Given the description of an element on the screen output the (x, y) to click on. 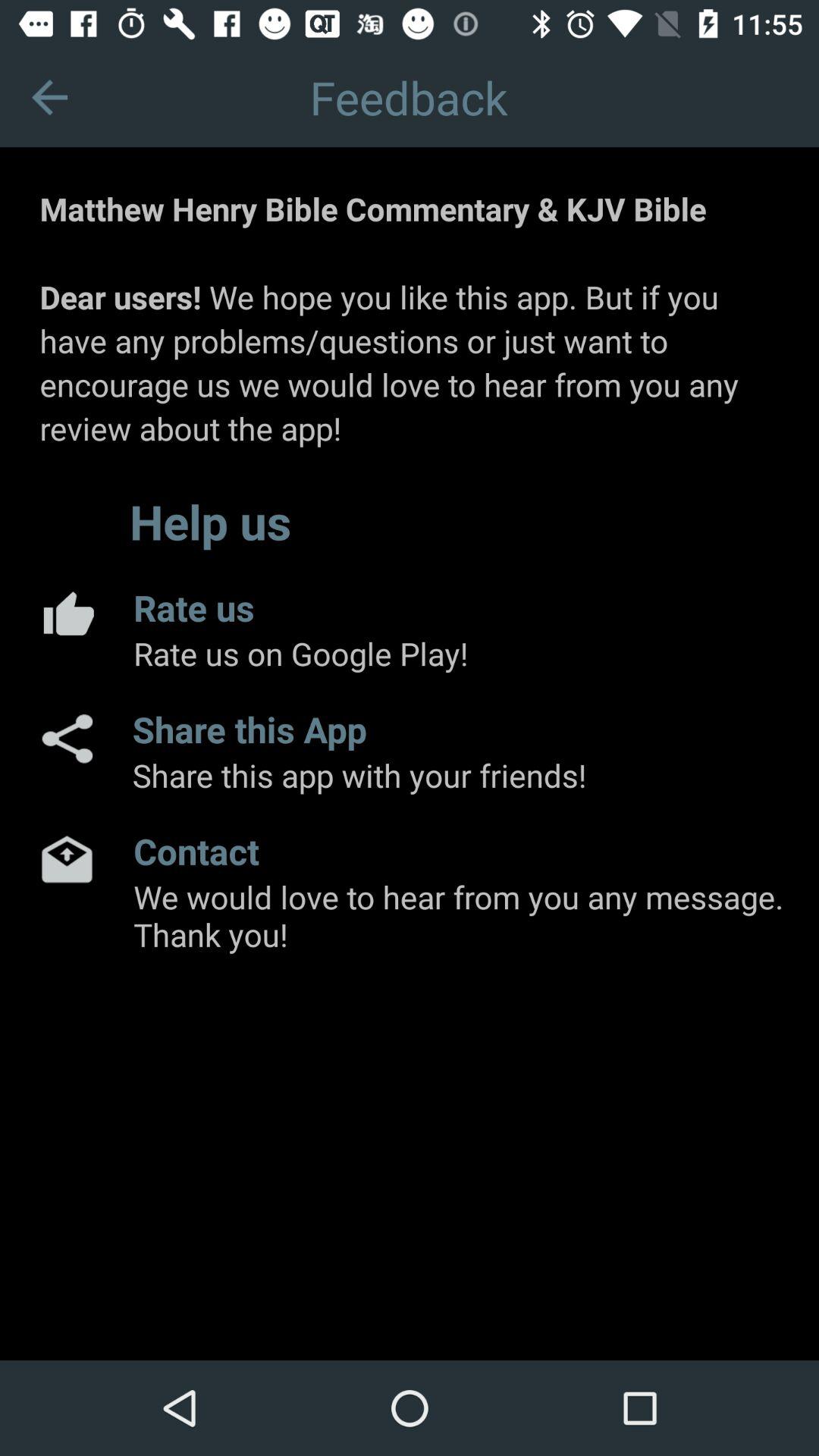
rate us (66, 613)
